Given the description of an element on the screen output the (x, y) to click on. 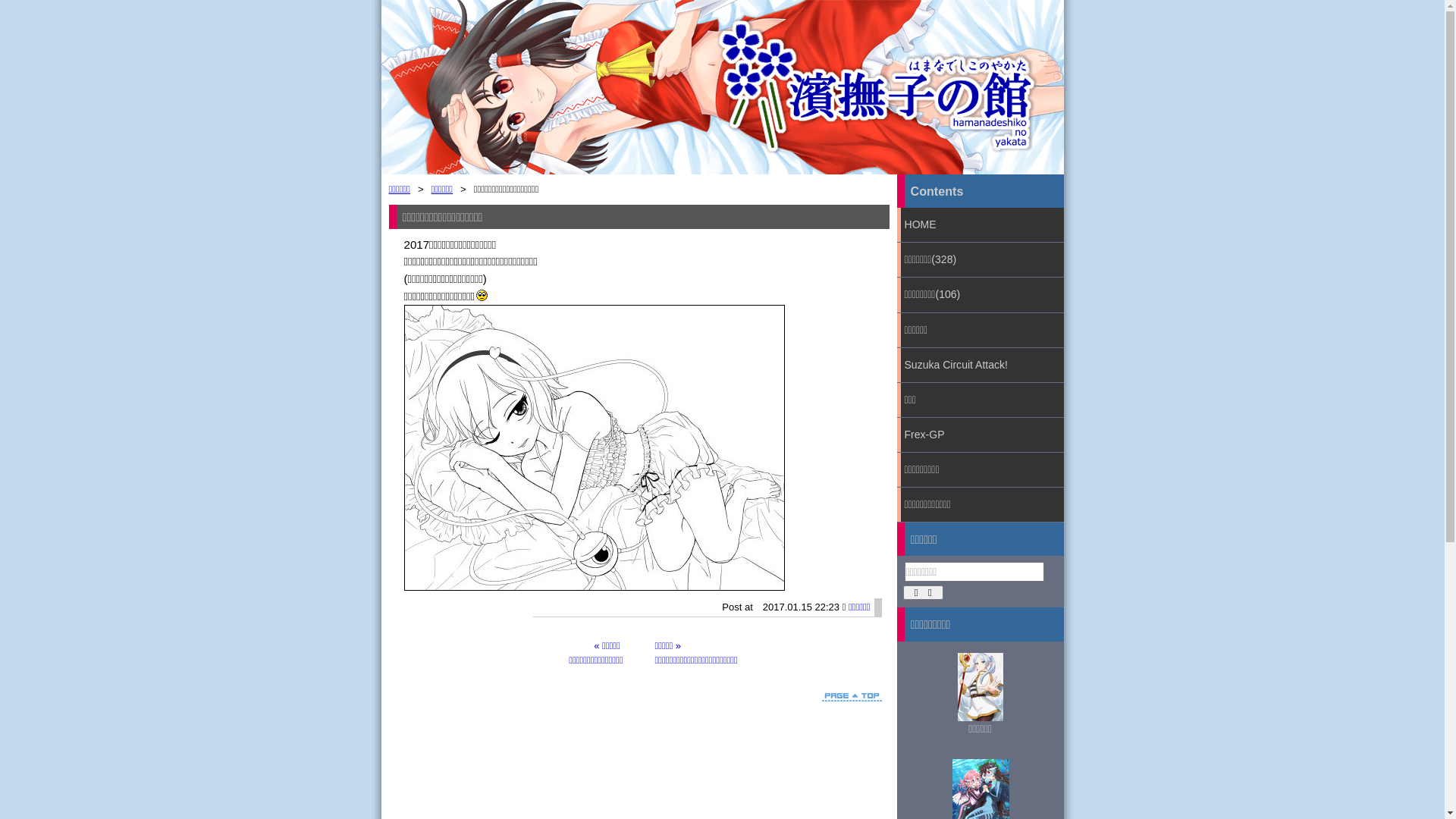
Suzuka Circuit Attack! Element type: text (979, 365)
Frex-GP Element type: text (979, 434)
HOME Element type: text (979, 224)
